Given the description of an element on the screen output the (x, y) to click on. 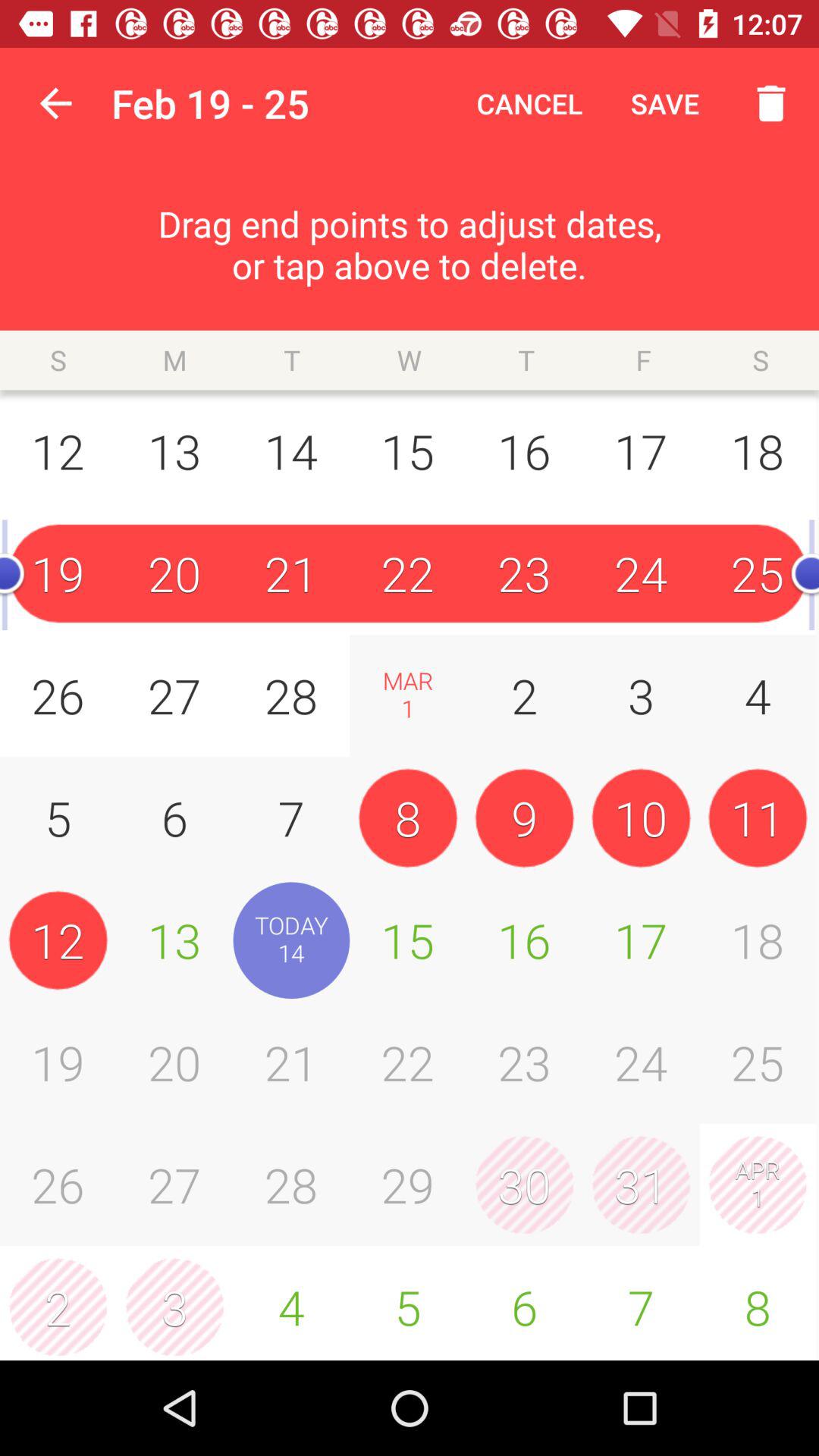
click the save (664, 103)
